Given the description of an element on the screen output the (x, y) to click on. 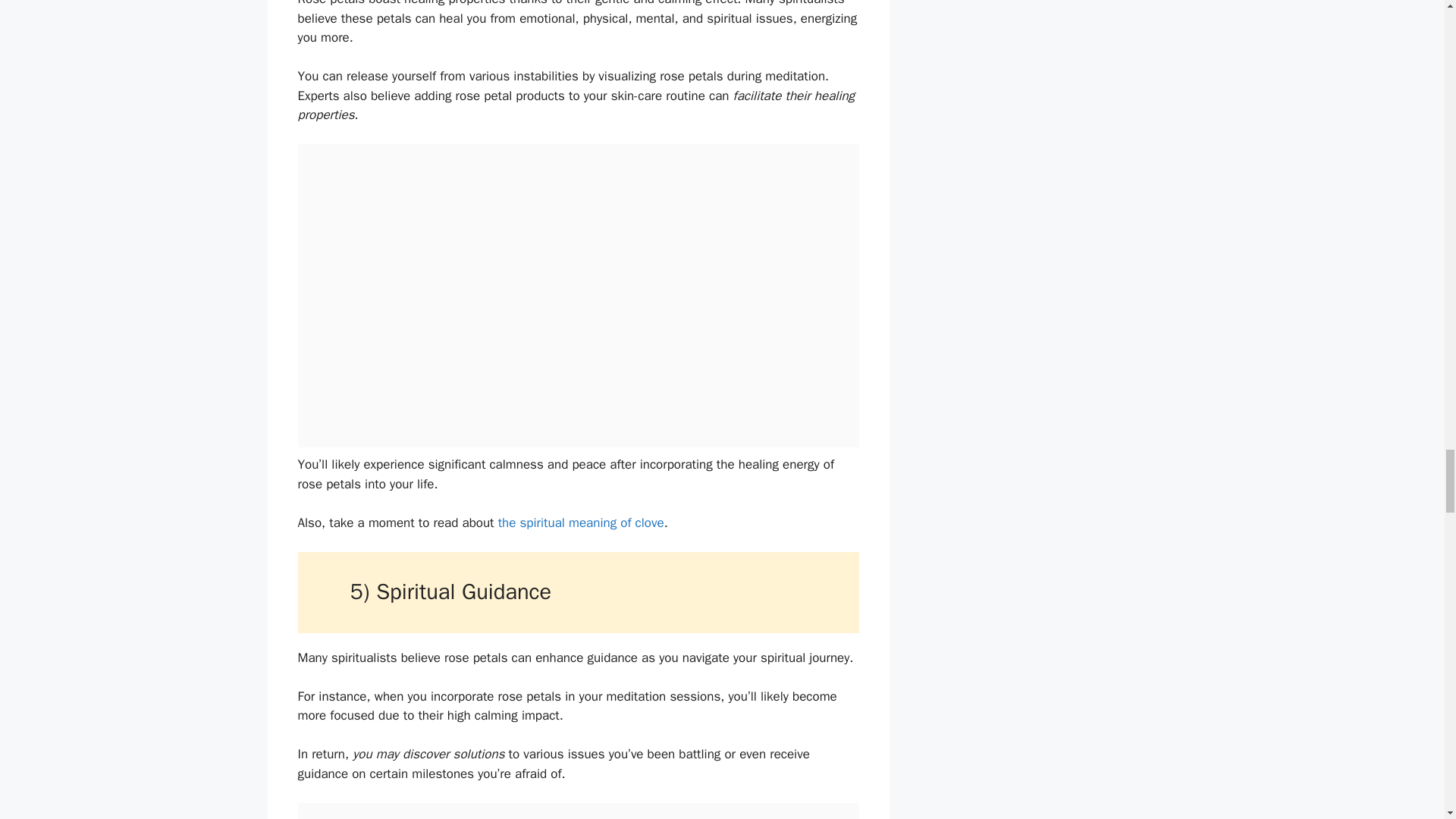
the spiritual meaning of clove (580, 522)
